Given the description of an element on the screen output the (x, y) to click on. 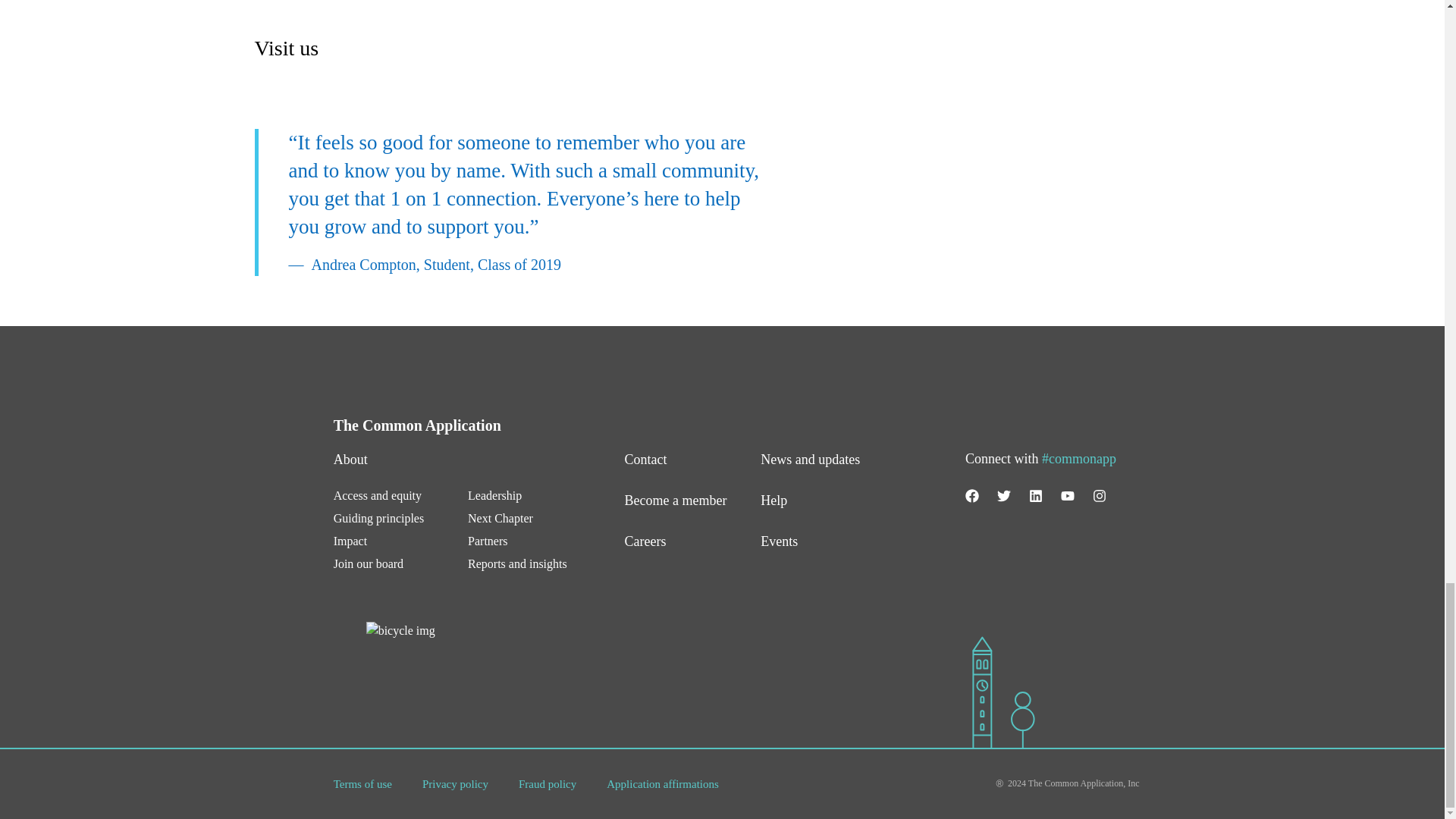
Twitter icon (1003, 495)
Youtube icon (1067, 495)
Instagram icon (1099, 495)
Facebook icon (971, 495)
LinkedIn icon (1035, 495)
